Given the description of an element on the screen output the (x, y) to click on. 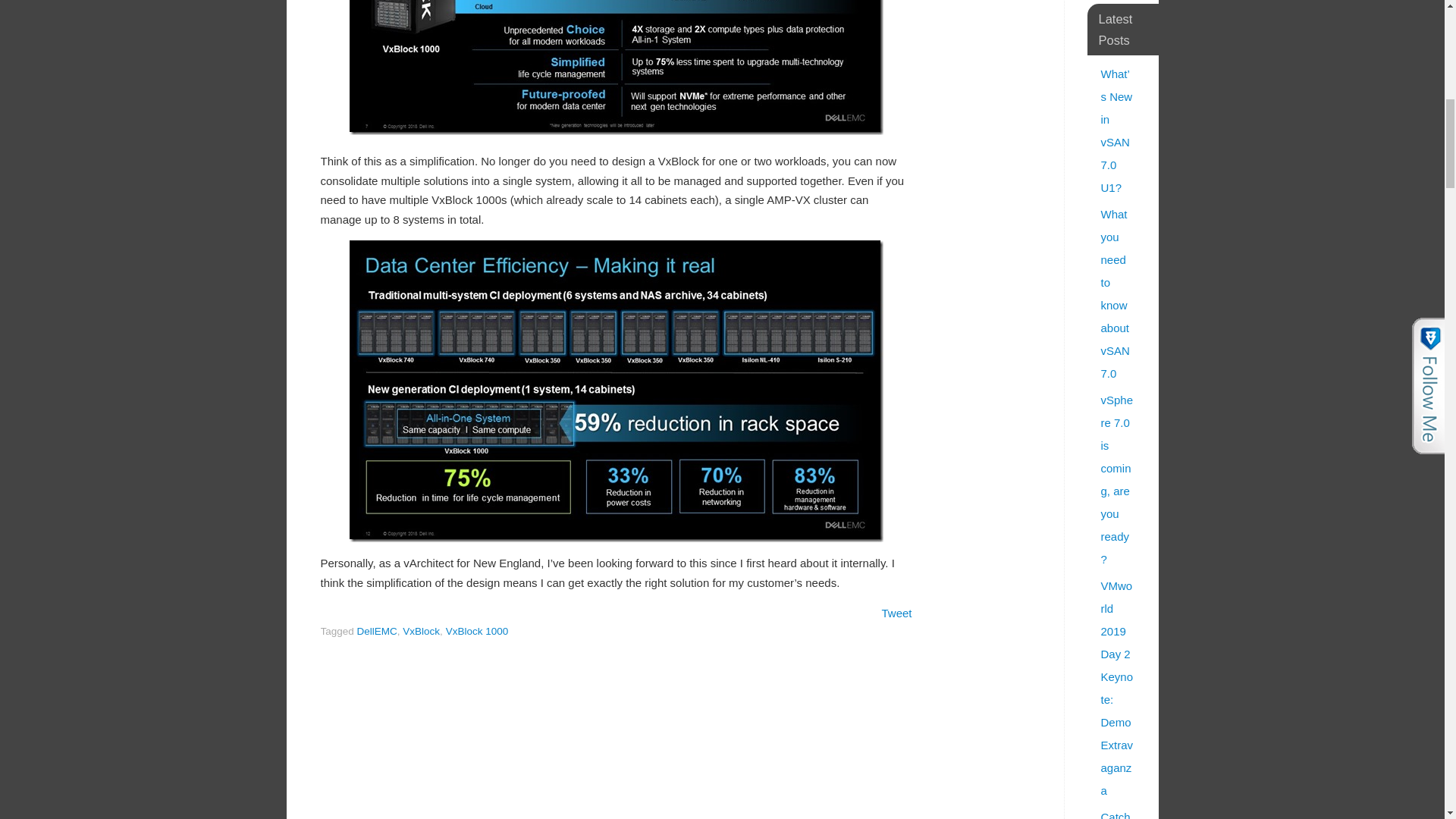
VxBlock 1000 (476, 631)
Catch me on the vExpert Daily! (1116, 814)
Tweet (895, 612)
VxBlock 1000 Options (615, 67)
VxBlock (421, 631)
DellEMC (376, 631)
